Given the description of an element on the screen output the (x, y) to click on. 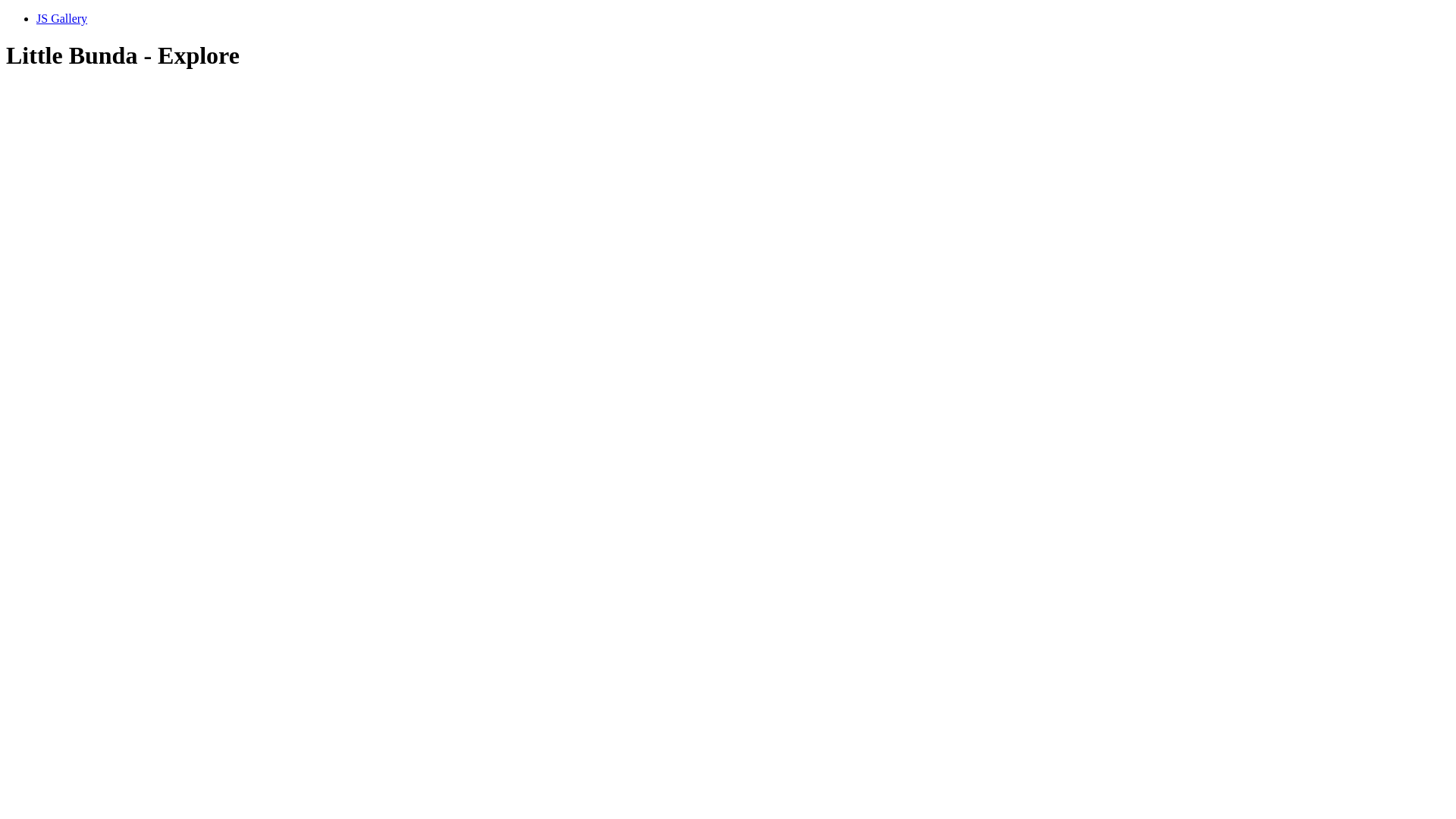
JS Gallery Element type: text (61, 18)
